Given the description of an element on the screen output the (x, y) to click on. 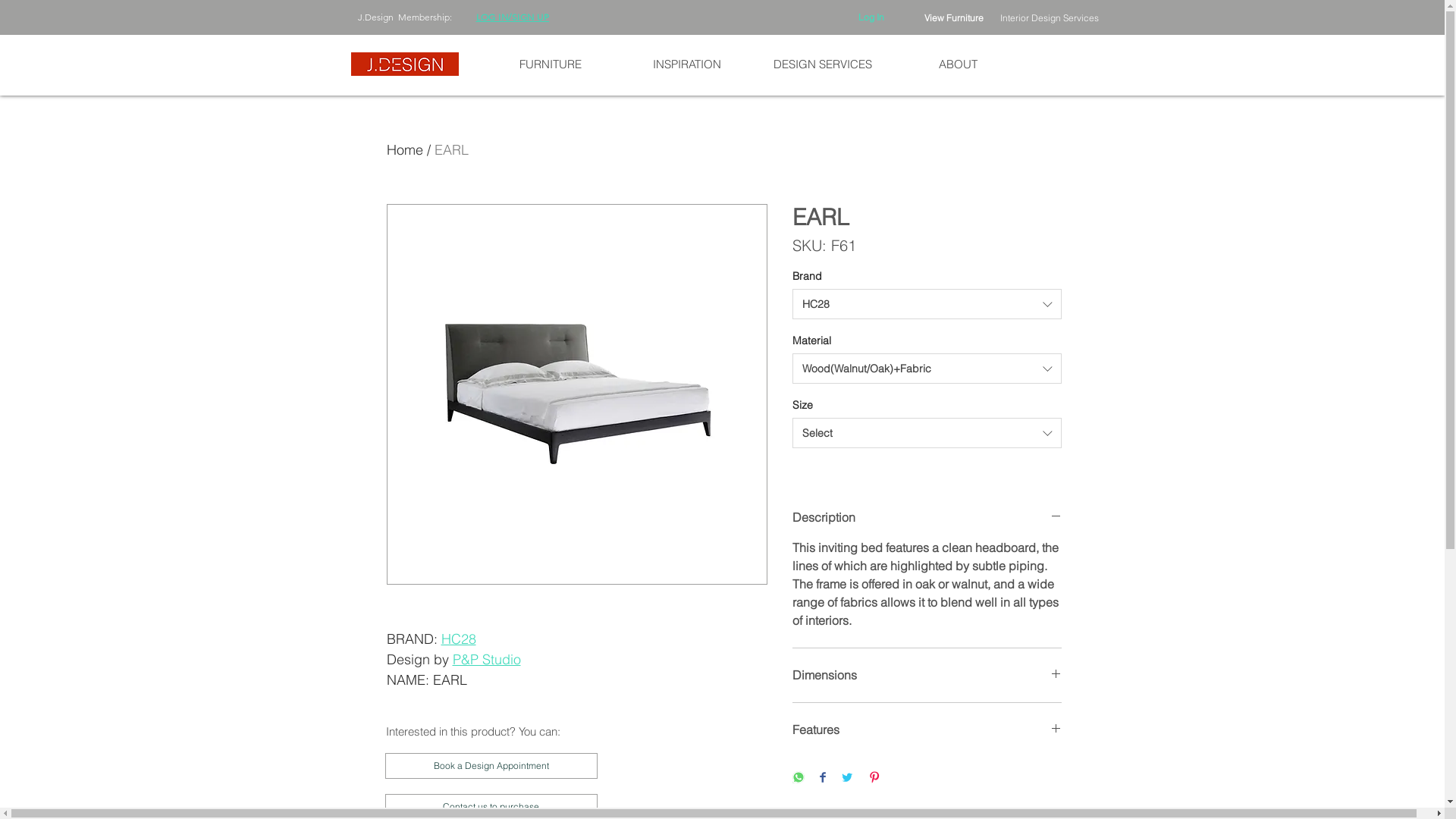
HC28 Element type: text (458, 638)
DESIGN SERVICES Element type: text (821, 64)
FURNITURE Element type: text (550, 64)
HC28 Element type: text (925, 303)
EARL Element type: text (450, 149)
Site Search Element type: hover (656, 17)
INSPIRATION Element type: text (686, 64)
ABOUT Element type: text (958, 64)
Dimensions Element type: text (925, 674)
Interior Design Services Element type: text (1048, 17)
Select Element type: text (925, 432)
Book a Design Appointment Element type: text (491, 765)
Wood(Walnut/Oak)+Fabric Element type: text (925, 368)
Home Element type: text (404, 149)
Features Element type: text (925, 729)
Description Element type: text (925, 516)
P&P Studio Element type: text (485, 659)
Log In Element type: text (870, 17)
View Furniture Element type: text (952, 17)
LOG IN/SIGN UP Element type: text (512, 16)
